Given the description of an element on the screen output the (x, y) to click on. 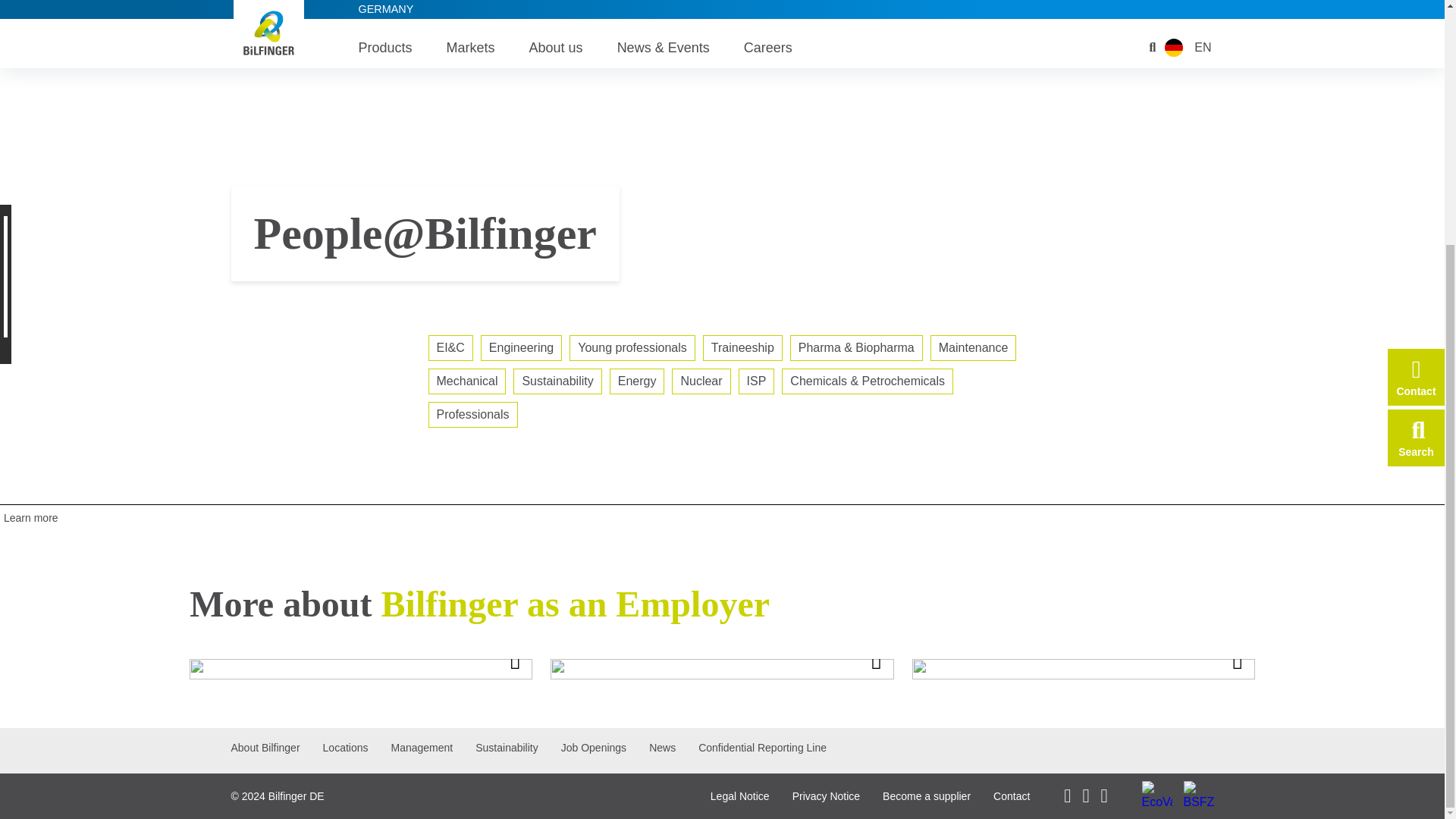
BSFZ Siegel (1197, 796)
EcoVadis Gold Medal (1156, 796)
